Given the description of an element on the screen output the (x, y) to click on. 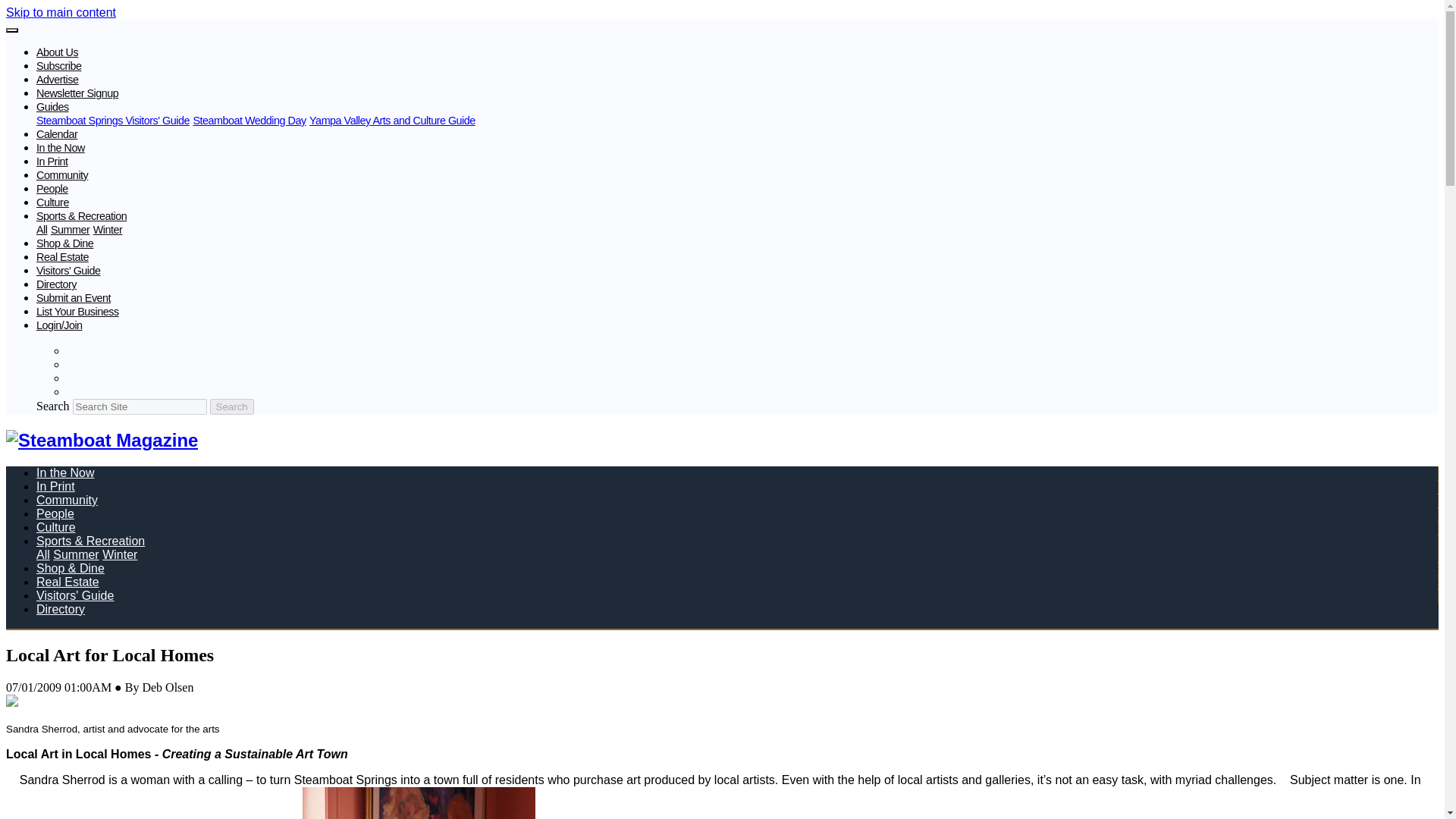
Real Estate (62, 256)
People (52, 188)
In Print (52, 161)
Calendar (56, 133)
Steamboat Wedding Day (248, 120)
In Print (55, 486)
Culture (55, 526)
Search (231, 406)
Directory (56, 284)
Skip to main content (60, 11)
